Given the description of an element on the screen output the (x, y) to click on. 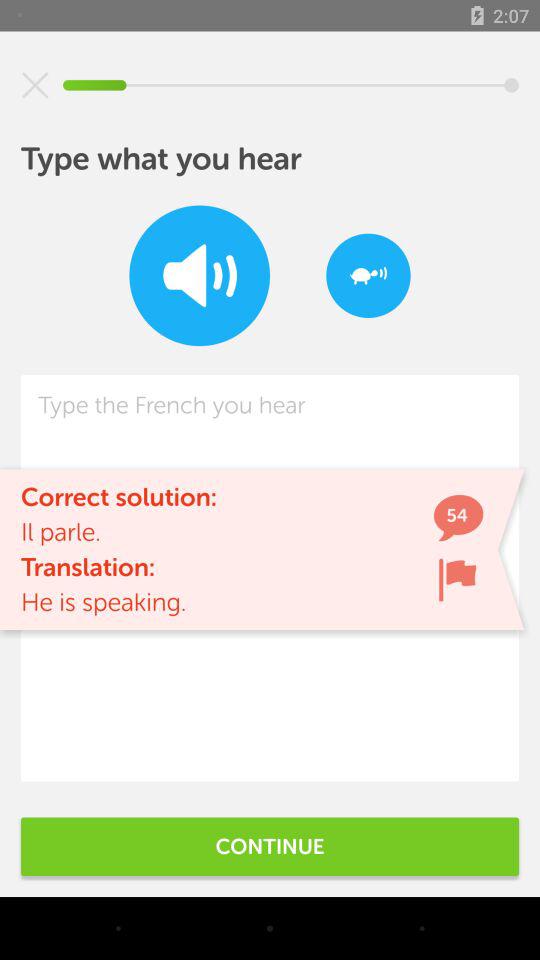
launch the icon next to the he is speaking. item (457, 579)
